Given the description of an element on the screen output the (x, y) to click on. 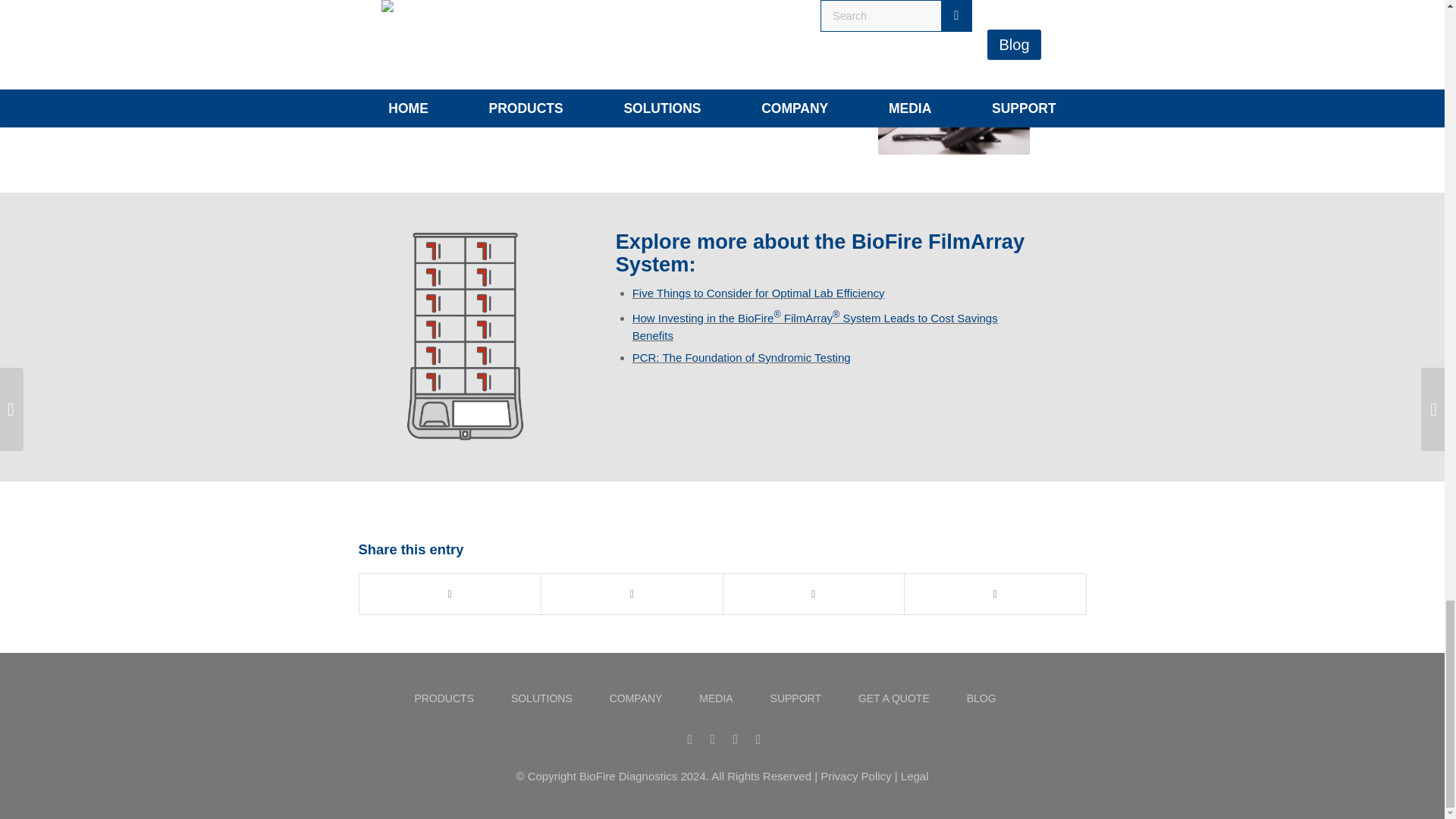
image (953, 77)
